Given the description of an element on the screen output the (x, y) to click on. 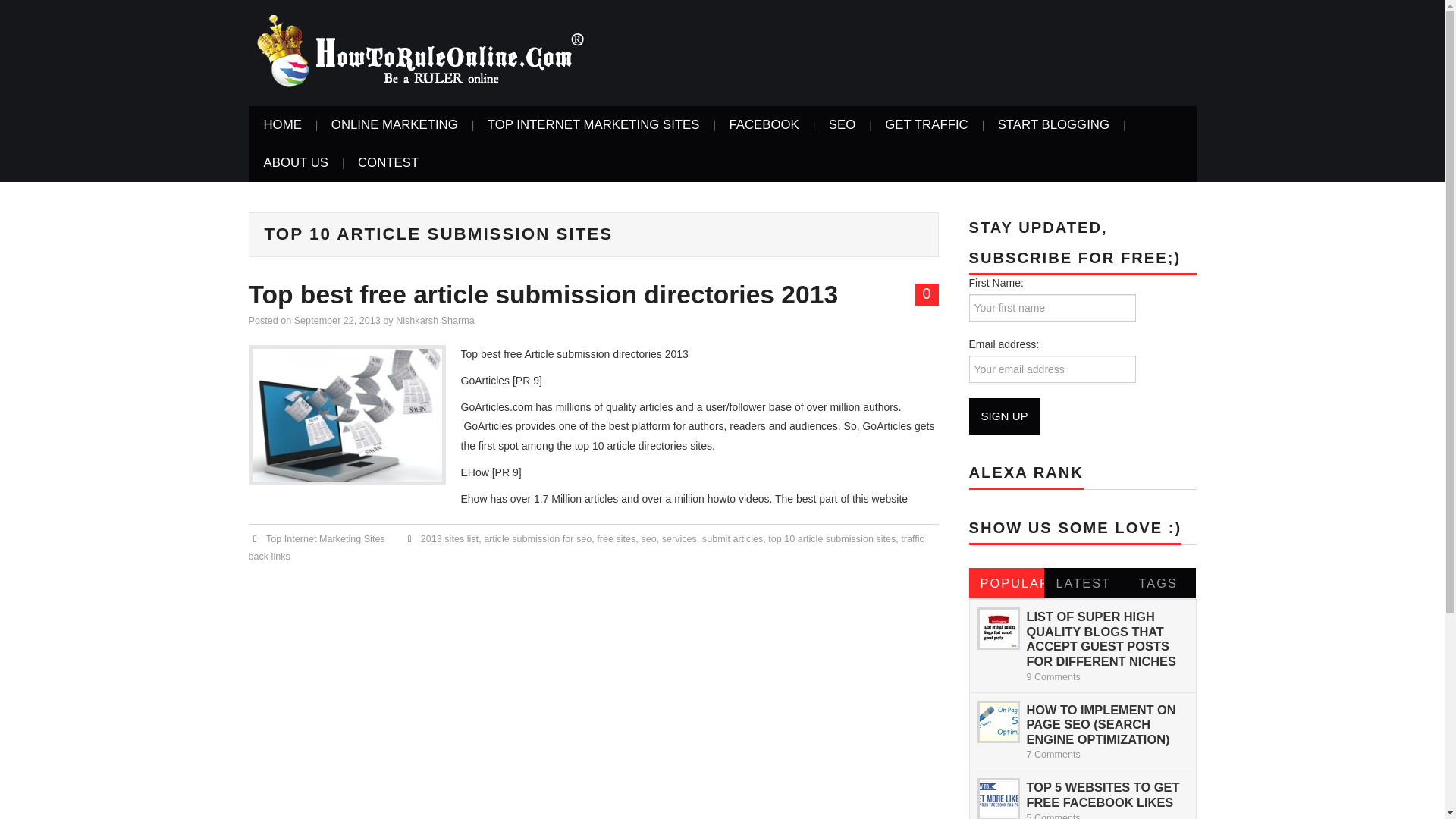
ONLINE MARKETING (394, 125)
0 (927, 294)
CONTEST (387, 162)
Sign up (1005, 416)
POPULAR (1007, 583)
article submission for seo (537, 538)
START BLOGGING (1053, 125)
1:11 PM (337, 320)
ABOUT US (295, 162)
